Given the description of an element on the screen output the (x, y) to click on. 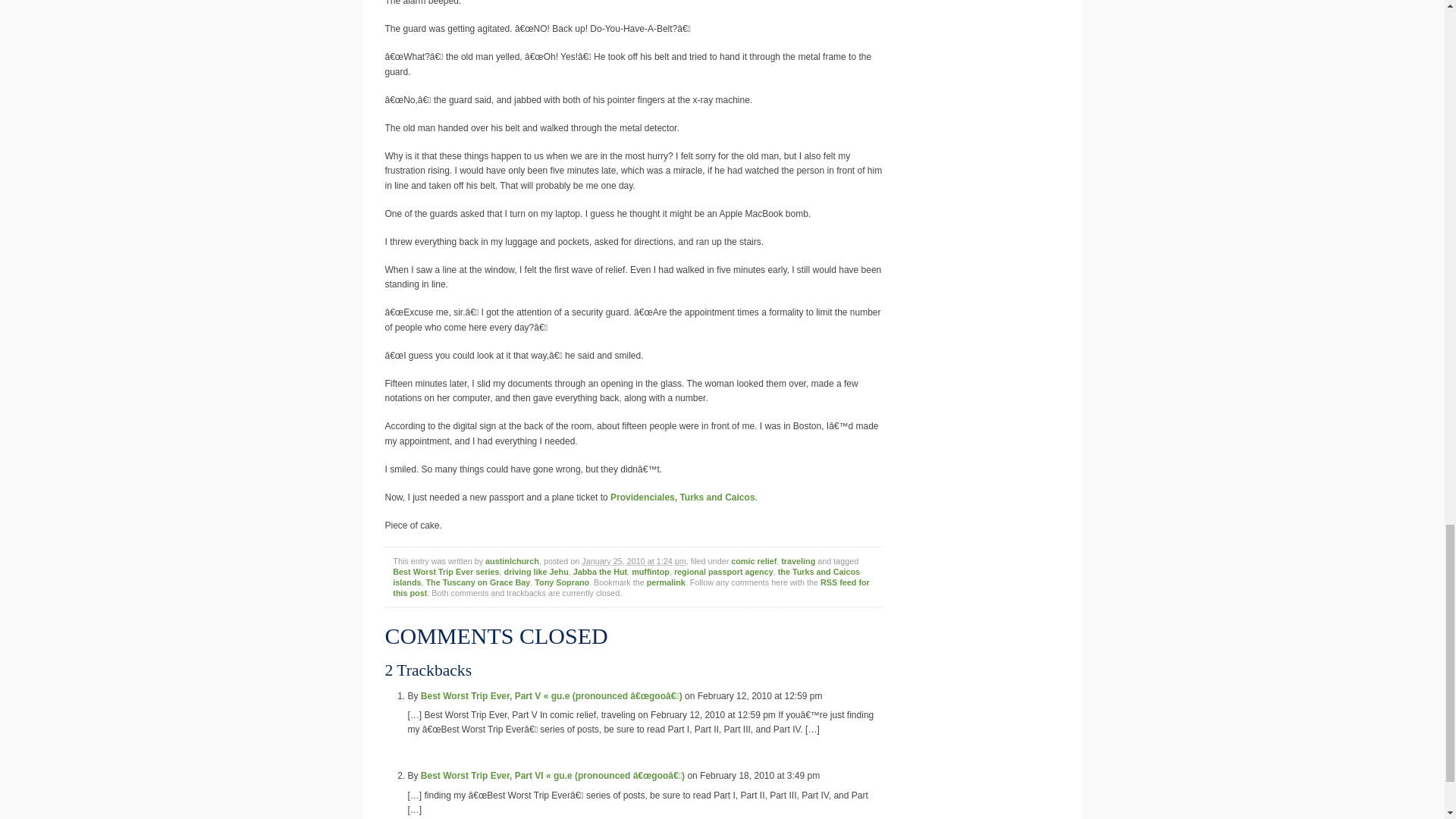
driving like Jehu (536, 571)
muffintop (650, 571)
RSS feed for this post (631, 587)
comic relief (753, 560)
the Turks and Caicos islands (626, 577)
Tony Soprano (561, 582)
View all posts by austinlchurch (511, 560)
Permalink to Best Worst Trip Ever, Part IV (665, 582)
2010-01-25T13:24:21-0500 (632, 560)
austinlchurch (511, 560)
